Given the description of an element on the screen output the (x, y) to click on. 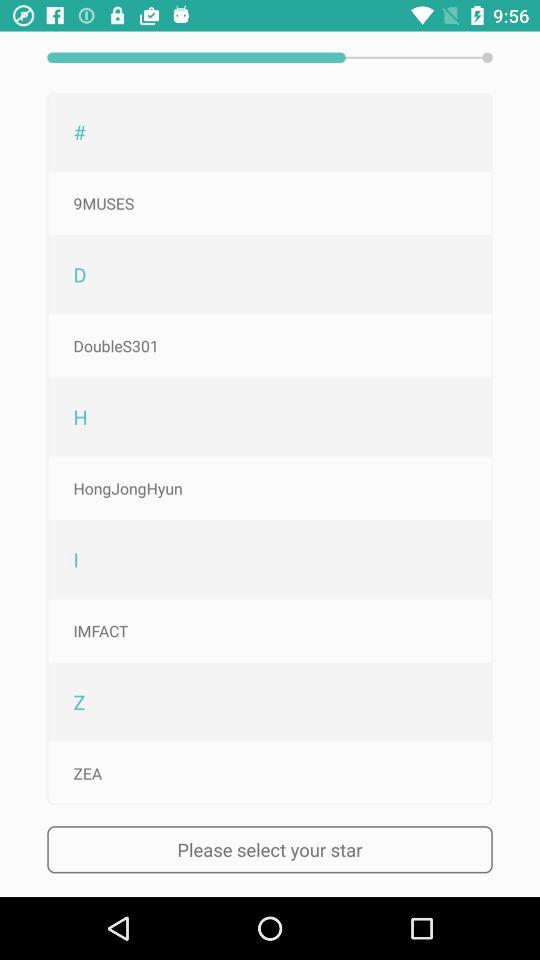
select item below the zea icon (269, 849)
